Given the description of an element on the screen output the (x, y) to click on. 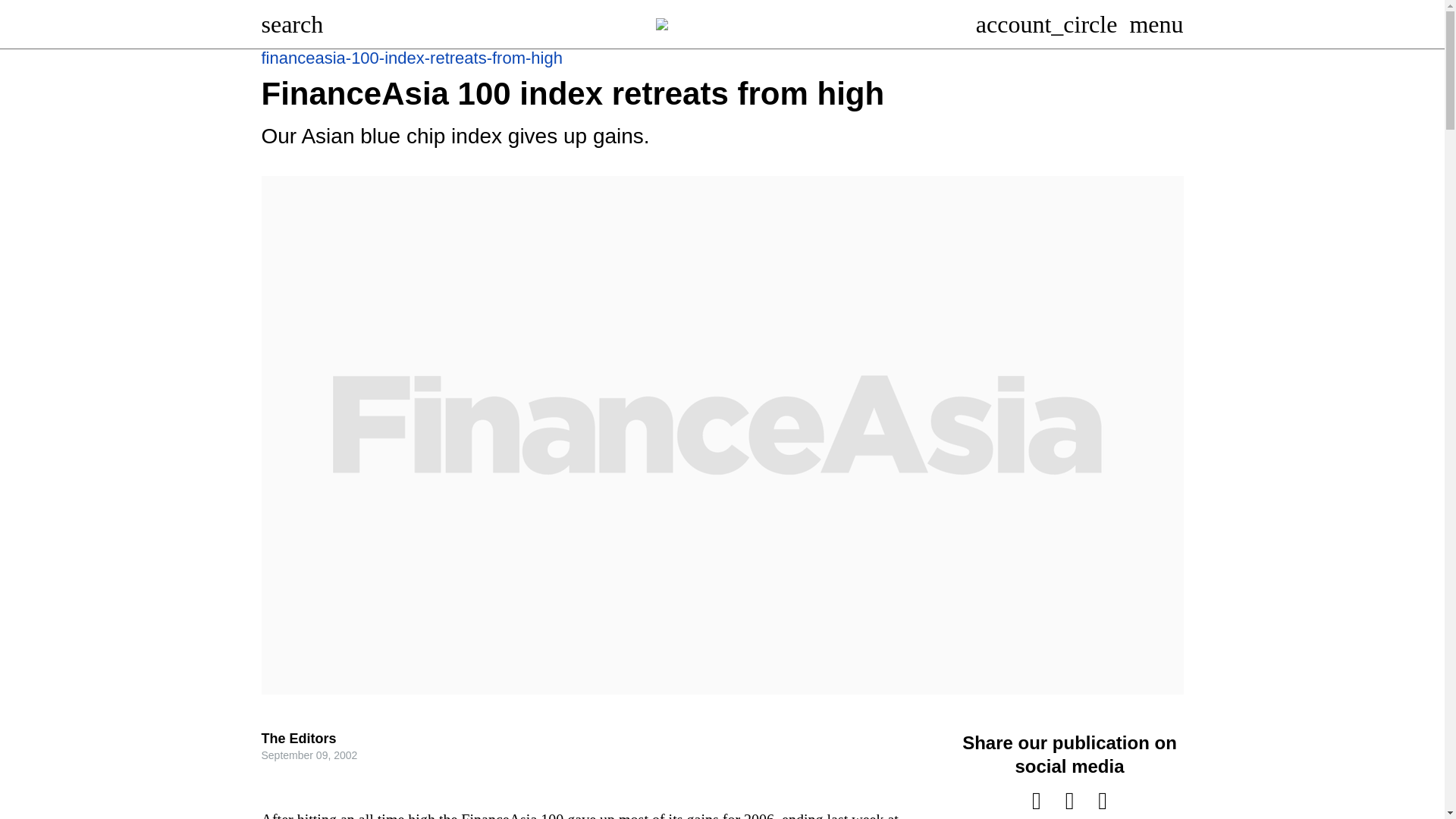
Sign In (1051, 24)
Menu (1162, 24)
3rd party ad content (727, 107)
Search (297, 24)
